Given the description of an element on the screen output the (x, y) to click on. 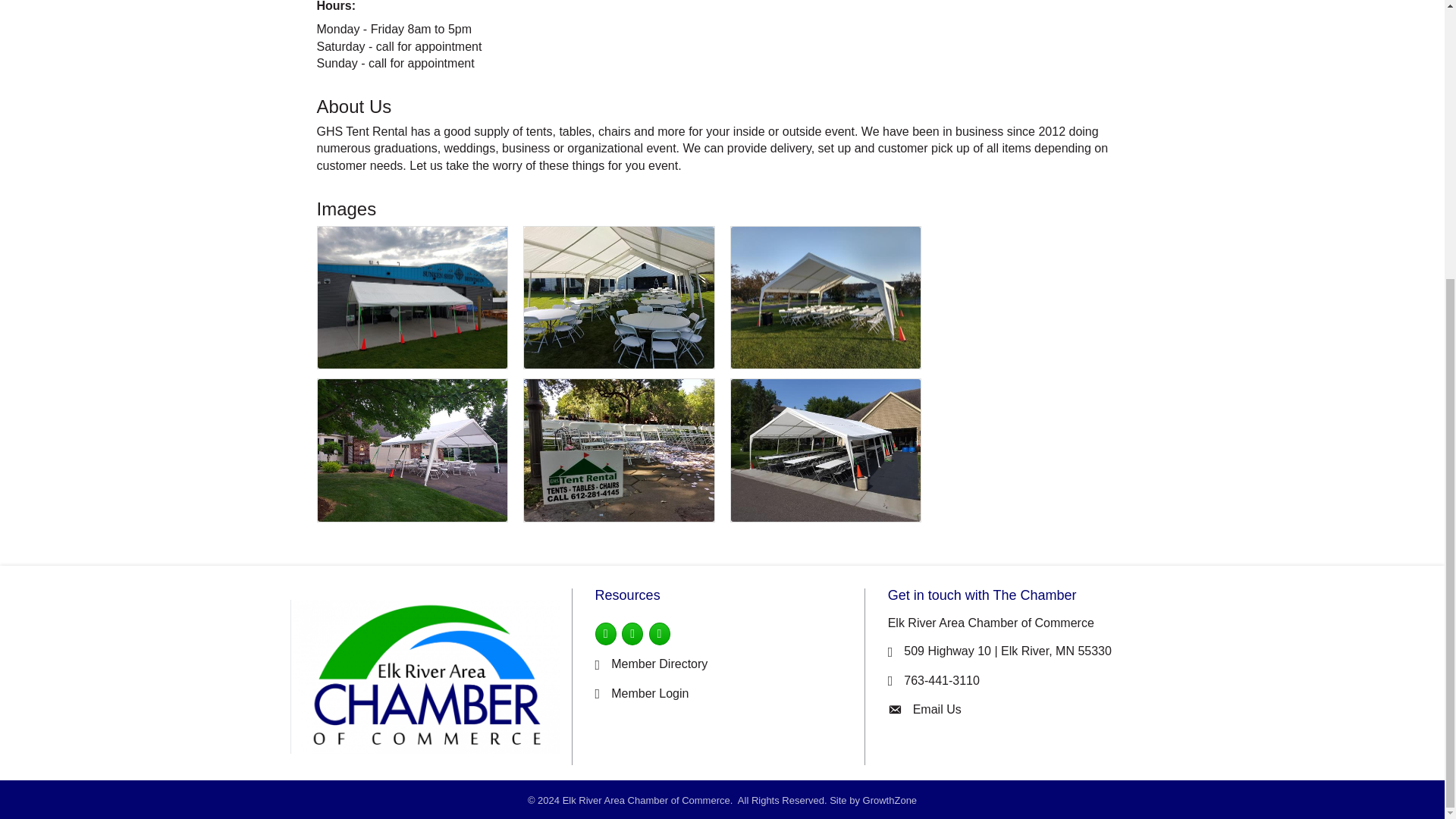
20X20 TENT WITH TABLES AND CHAIRS (411, 450)
20X40 TENT WITH ROUND TABLES AND CHAIRS FOR OUTDOOR WEDDING (619, 297)
20X40 TENT, TABLES AND CHAIRS ON DRIVEWAY (825, 450)
OUTDOOR WEDDING AT A PARK IN ST PAUL (619, 450)
20X20 TENT, TABLES AND CHAIRS ON GRASS (825, 297)
18X27 TENT FOR SUNKIN SHIP BREWERY (411, 297)
